Given the description of an element on the screen output the (x, y) to click on. 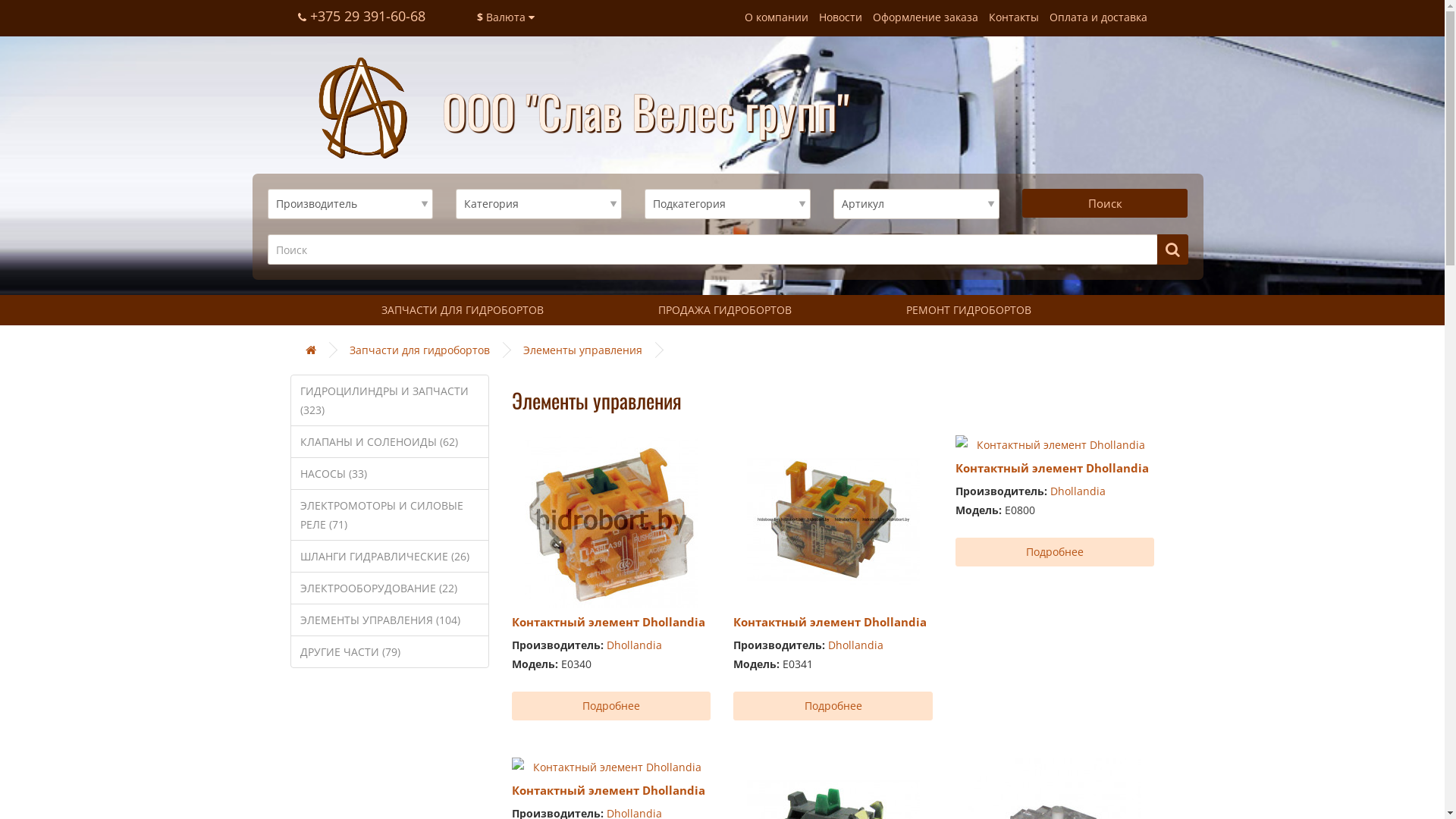
Dhollandia Element type: text (855, 644)
Dhollandia Element type: text (634, 644)
Dhollandia Element type: text (1077, 490)
